Given the description of an element on the screen output the (x, y) to click on. 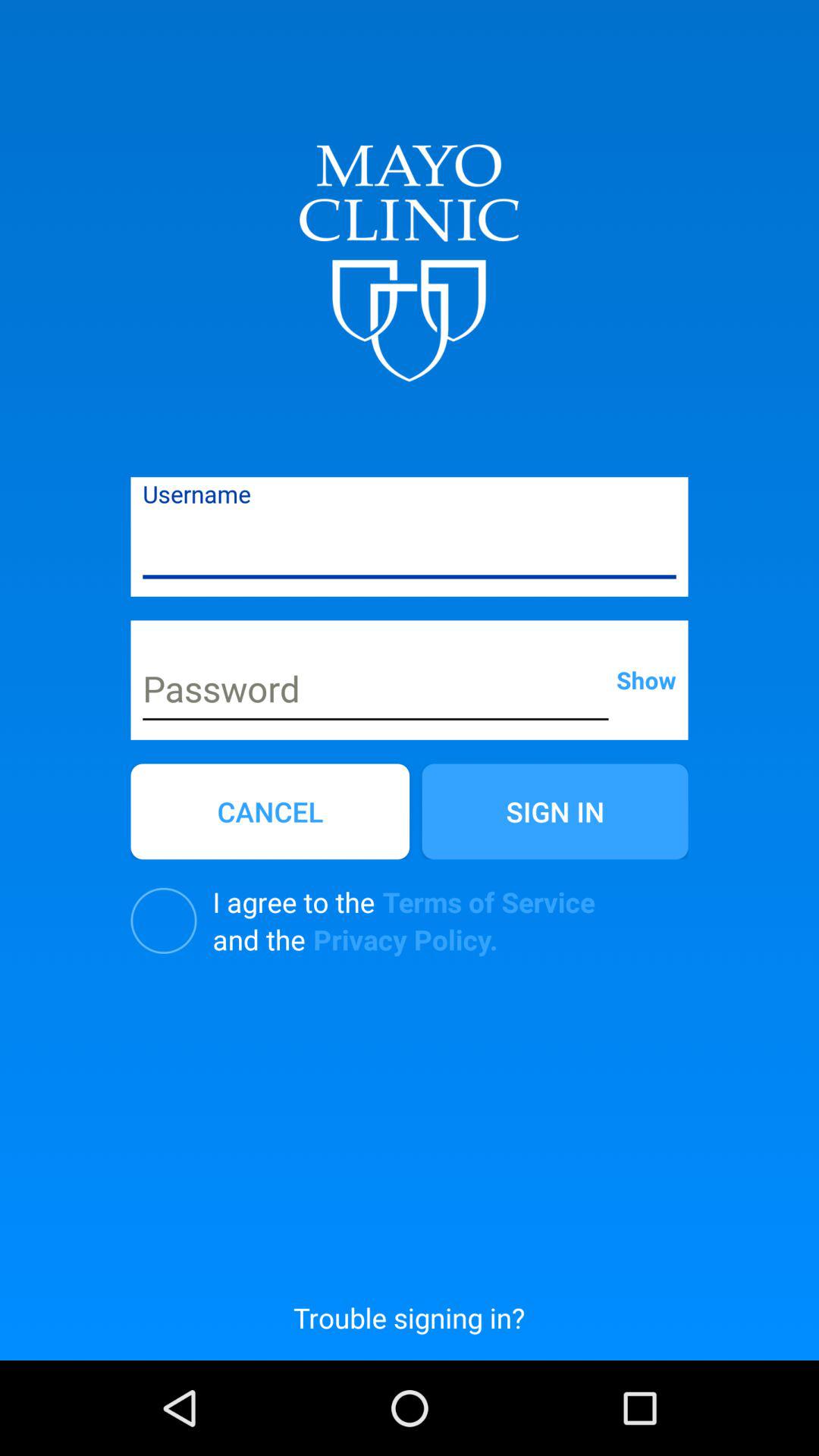
enter password (375, 690)
